Given the description of an element on the screen output the (x, y) to click on. 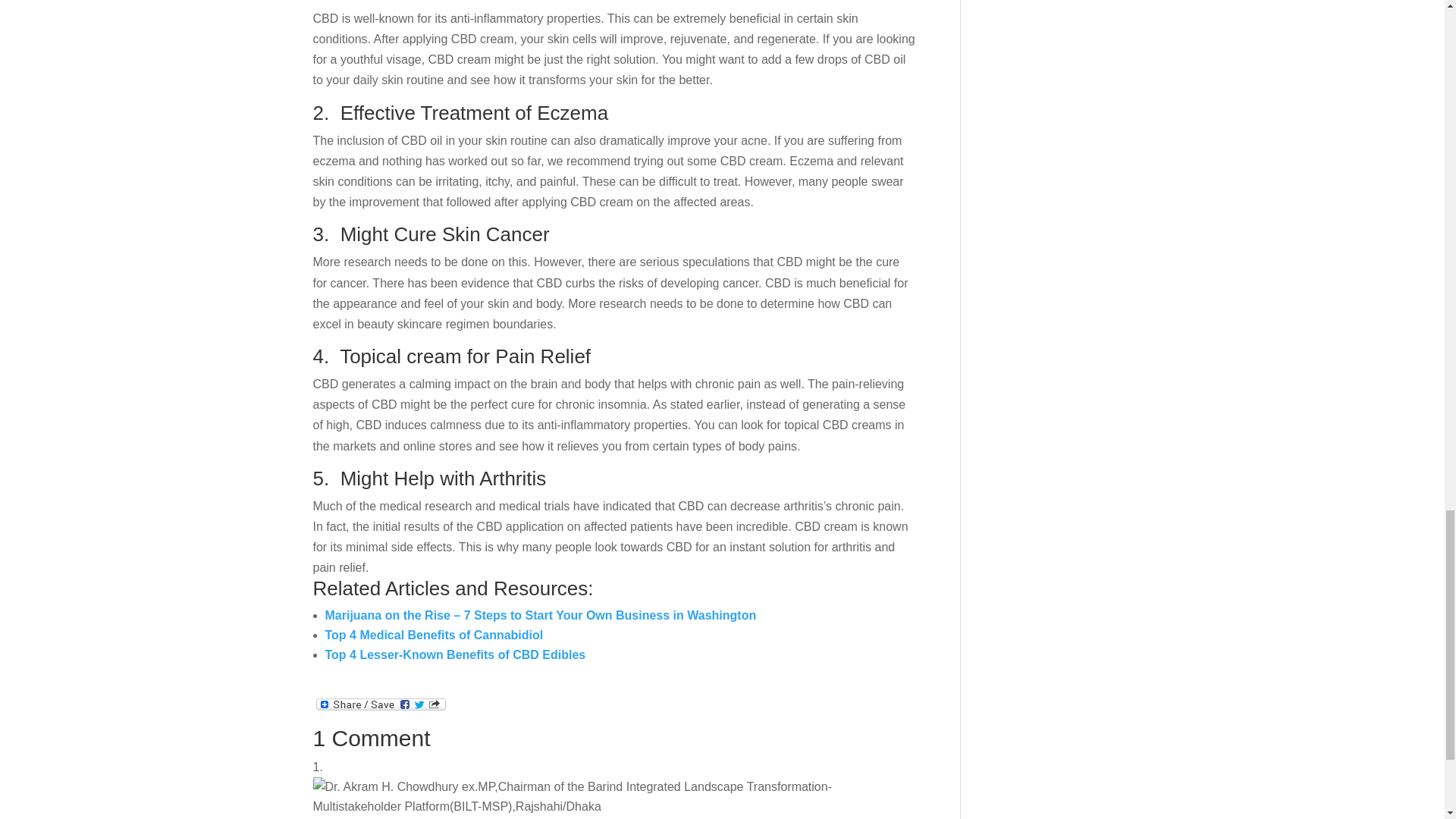
Top 4 Lesser-Known Benefits of CBD Edibles (454, 654)
Top 4 Medical Benefits of Cannabidiol (433, 634)
